Given the description of an element on the screen output the (x, y) to click on. 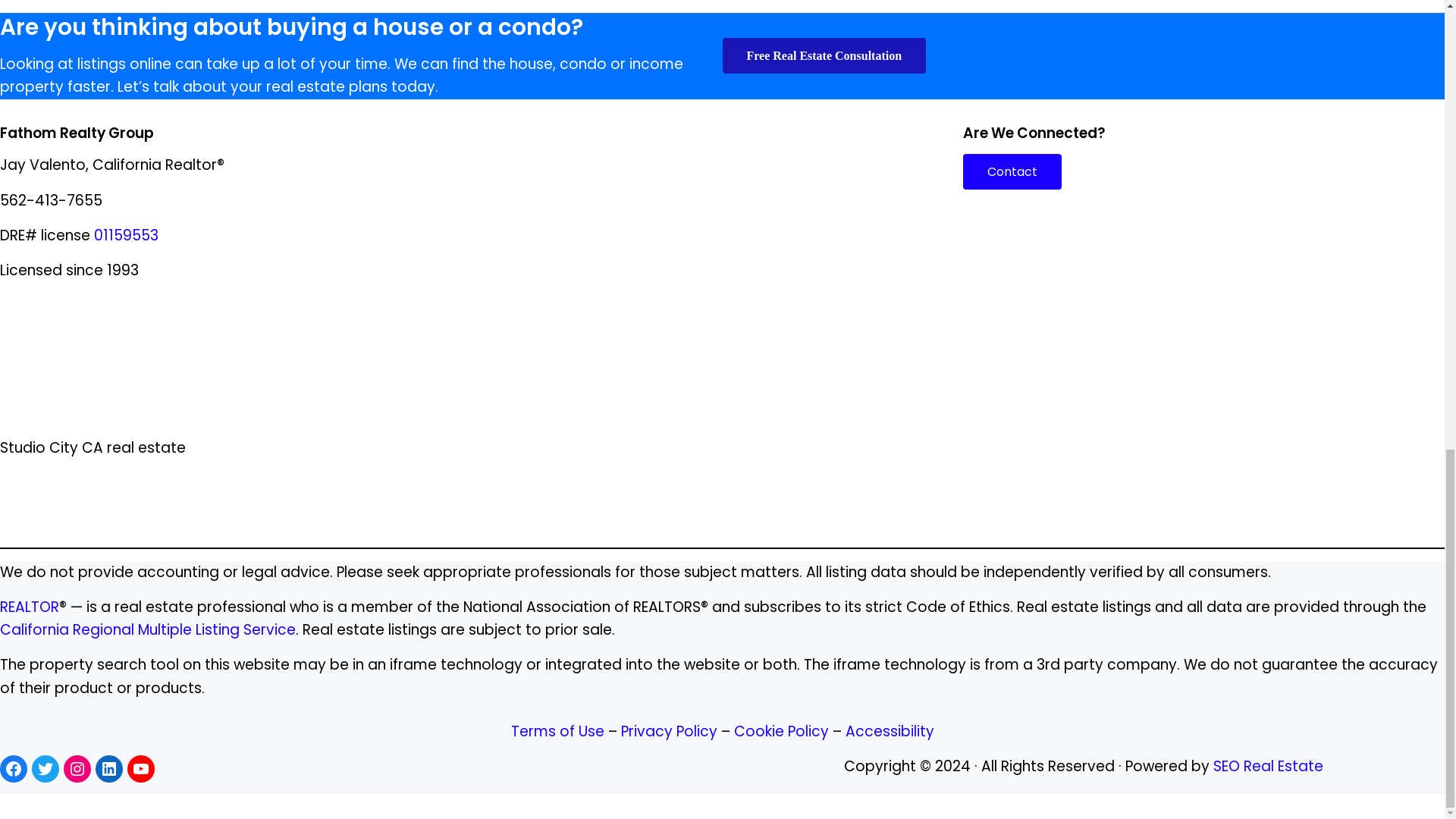
REALTOR (29, 607)
01159553 (126, 235)
Free Real Estate Consultation (824, 54)
Accessibility (888, 731)
Privacy Policy (668, 731)
SEO Real Estate (1267, 765)
YouTube Channel (141, 768)
California Regional Multiple Listing Service (147, 629)
Contact (1011, 171)
Facebook (13, 768)
Follow me on Instagram (77, 768)
Twitter (45, 768)
Cookie Policy (780, 731)
Terms of Use  (559, 731)
Linked In (109, 768)
